Given the description of an element on the screen output the (x, y) to click on. 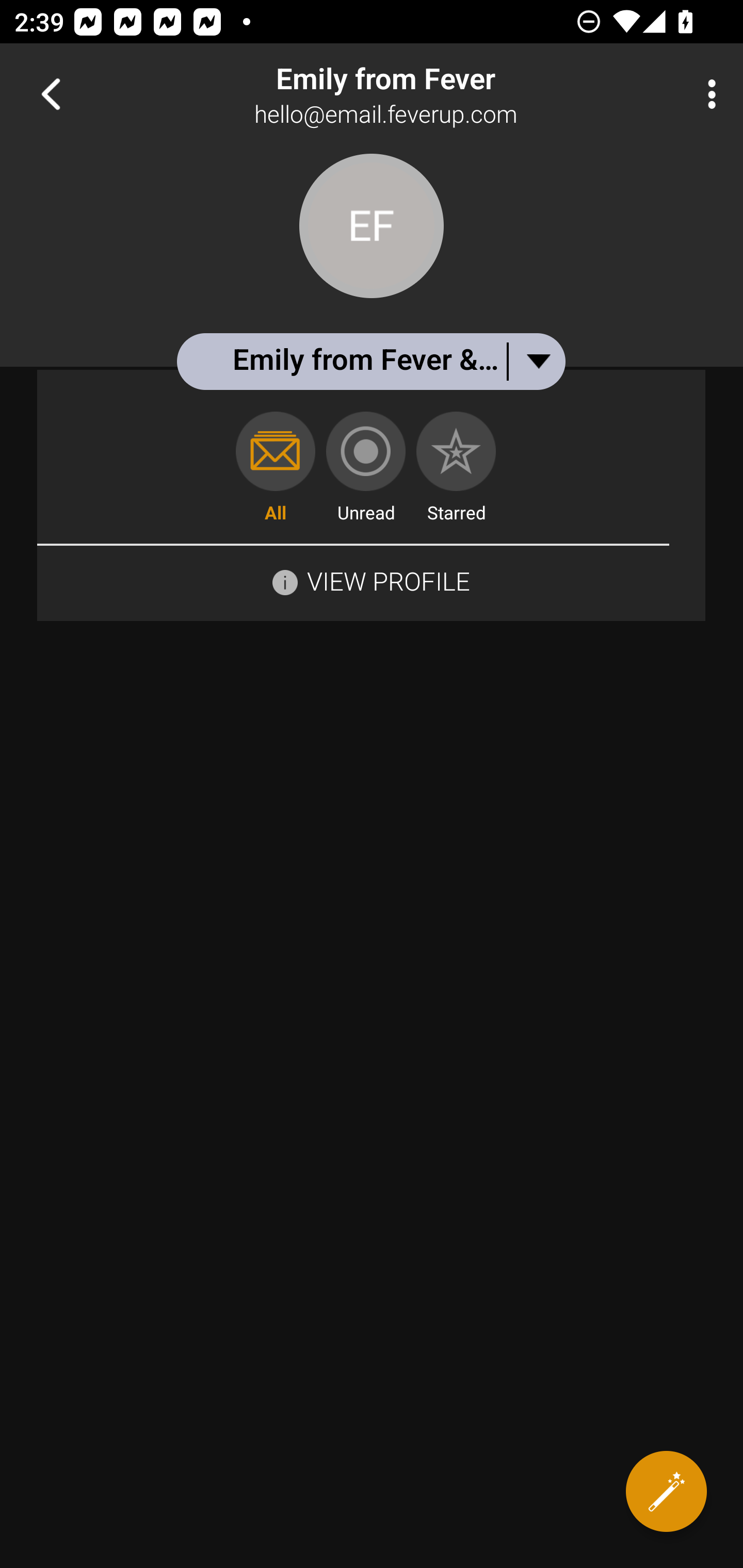
VIEW PROFILE (371, 580)
VIEW PROFILE (388, 580)
